Given the description of an element on the screen output the (x, y) to click on. 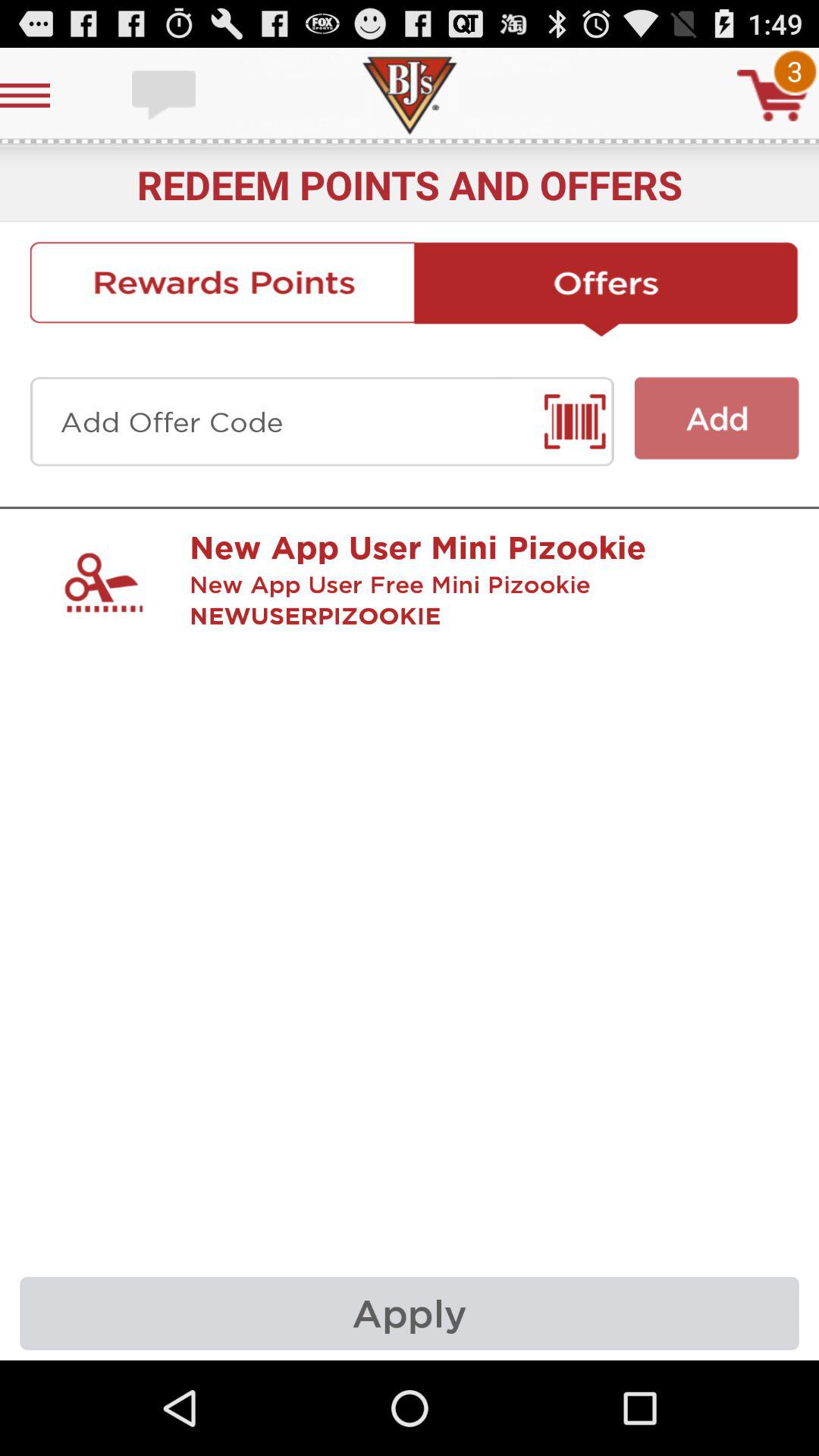
rewards points (222, 289)
